Given the description of an element on the screen output the (x, y) to click on. 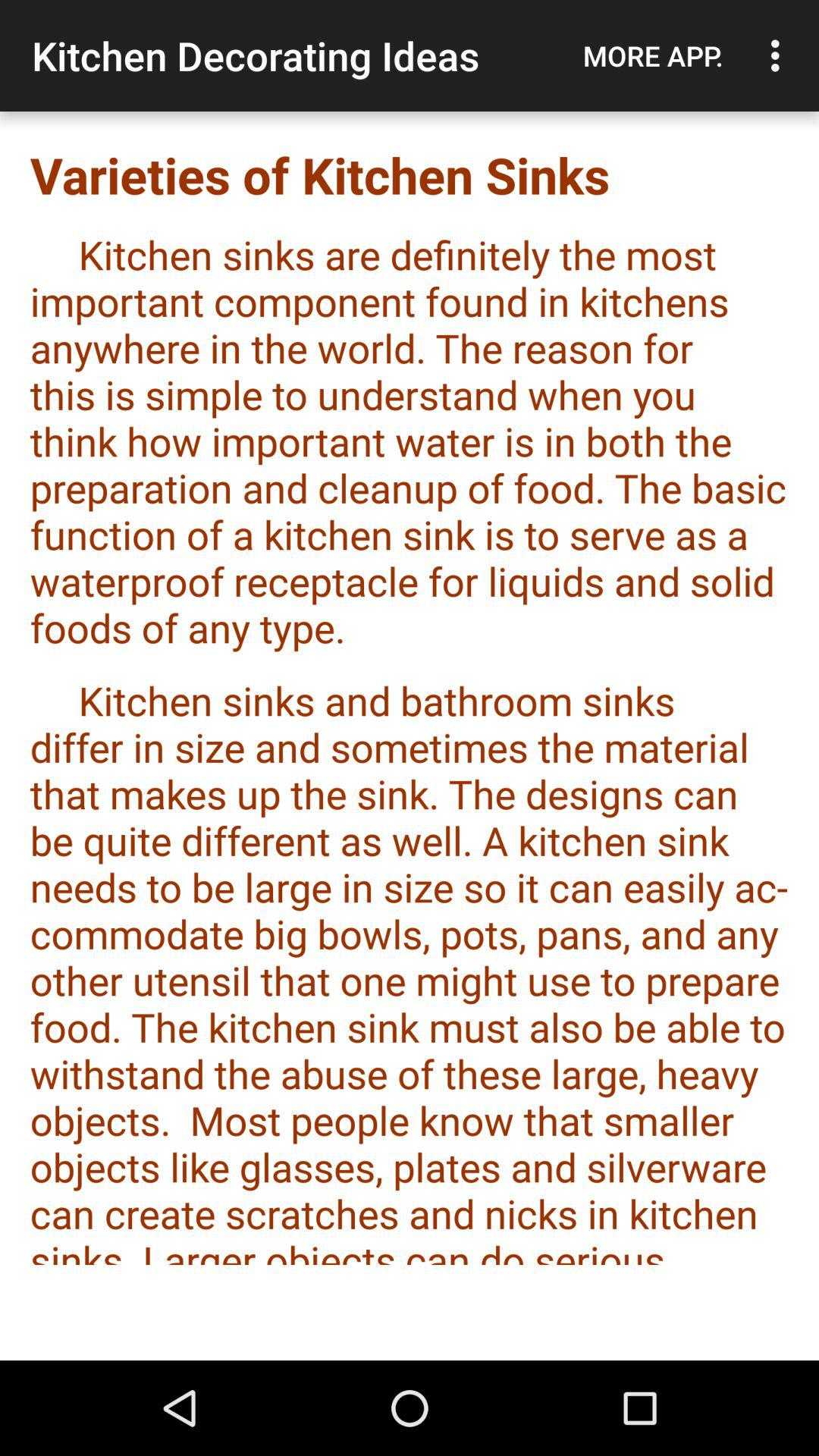
flip until more app. (653, 55)
